Given the description of an element on the screen output the (x, y) to click on. 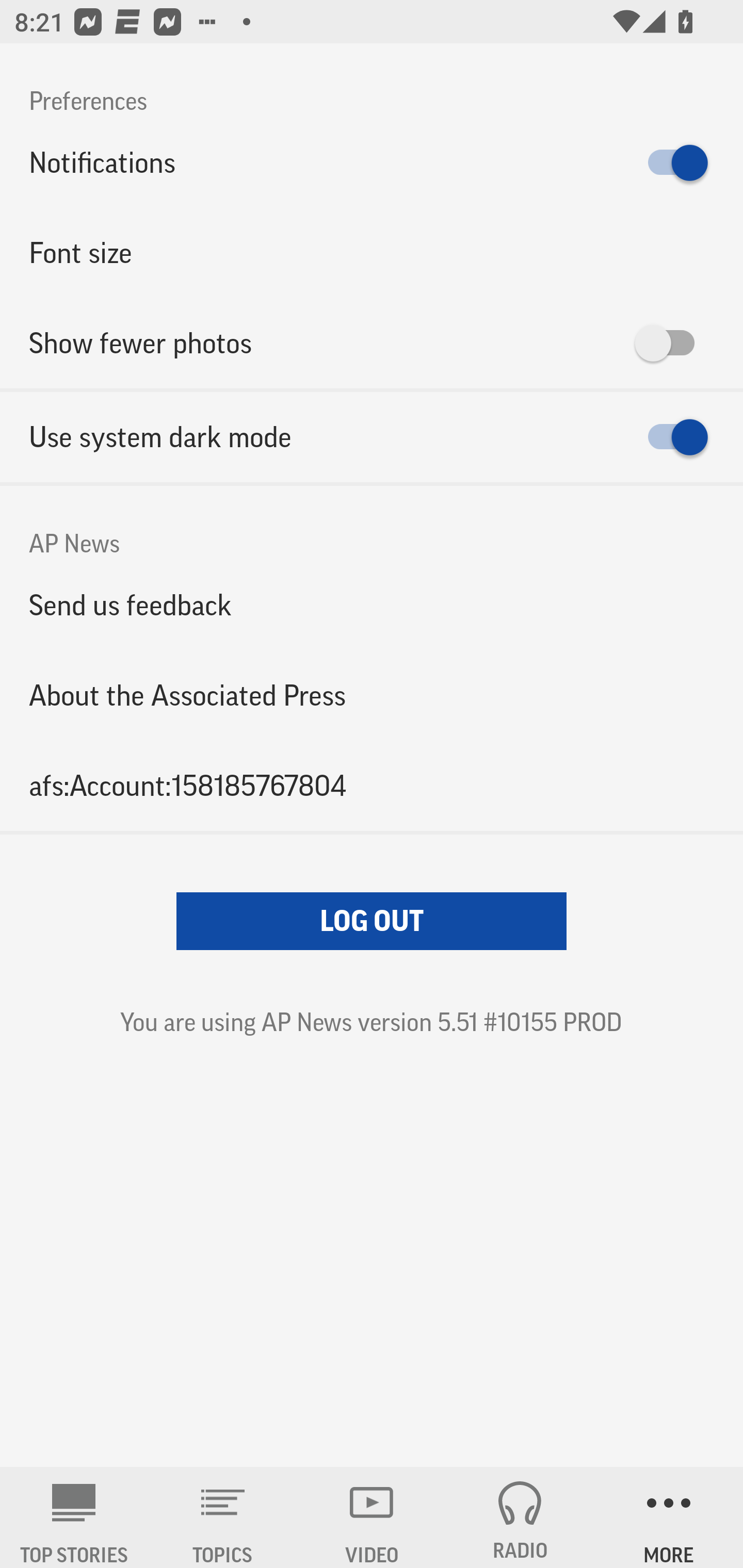
Notifications (371, 162)
Font size (371, 252)
Show fewer photos (371, 342)
Use system dark mode (371, 437)
Send us feedback (371, 604)
About the Associated Press (371, 695)
afs:Account:158185767804 (371, 785)
LOG OUT (371, 921)
AP News TOP STORIES (74, 1517)
TOPICS (222, 1517)
VIDEO (371, 1517)
RADIO (519, 1517)
MORE (668, 1517)
